Given the description of an element on the screen output the (x, y) to click on. 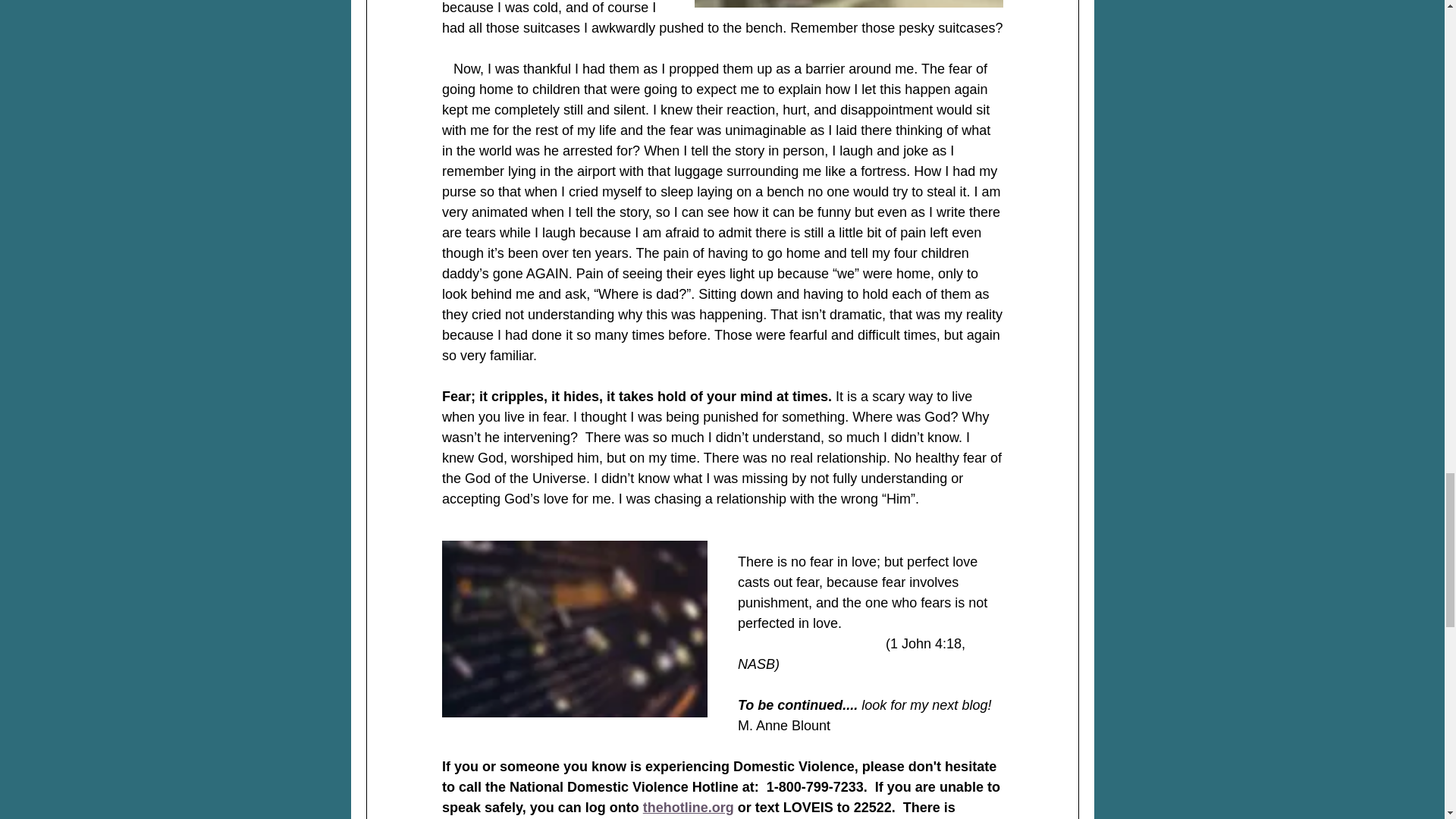
thehotline.org (687, 807)
